Given the description of an element on the screen output the (x, y) to click on. 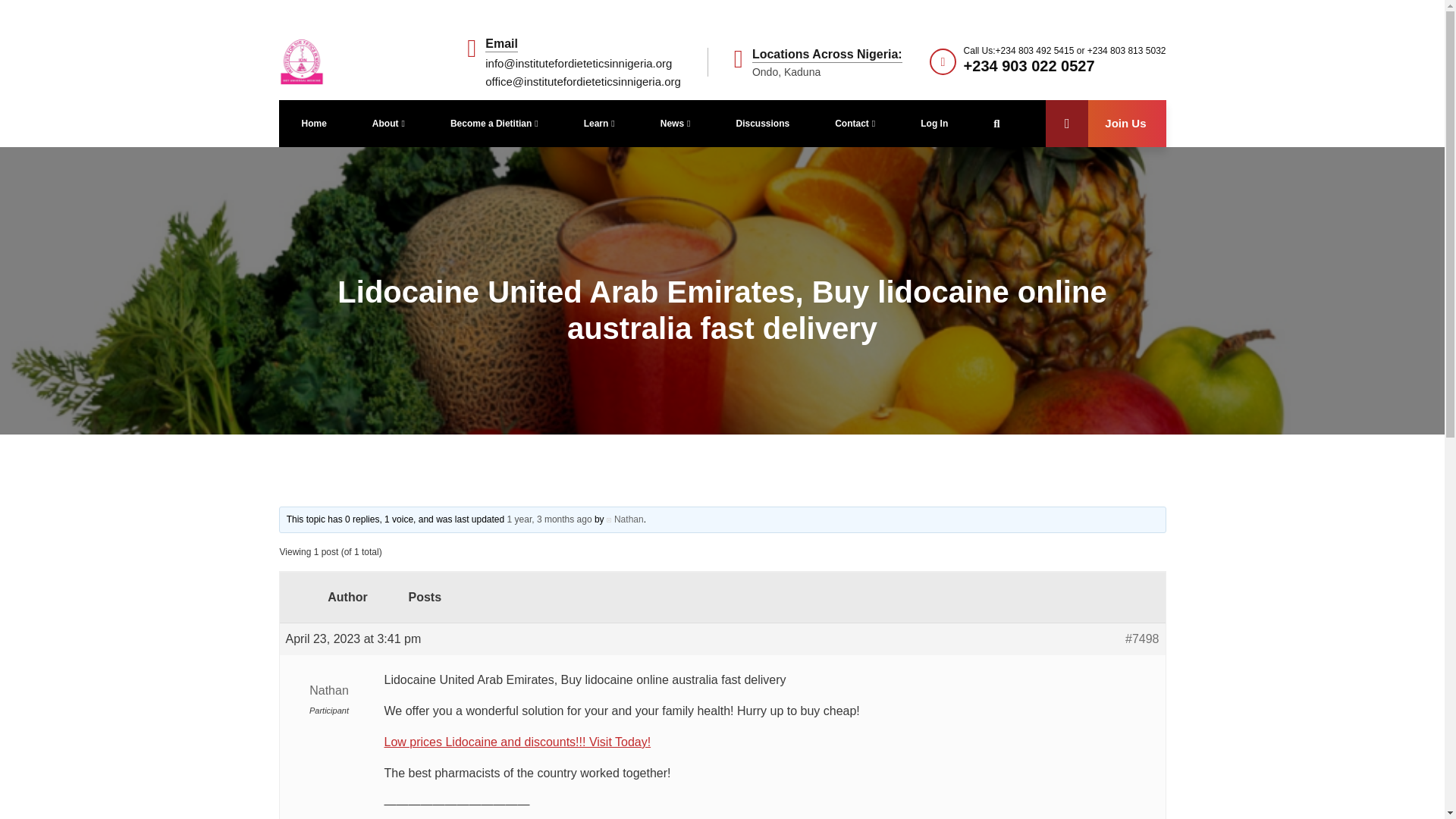
Institute for Dietetics in Nigeria (301, 60)
View nathan's profile (328, 698)
View nathan's profile (625, 519)
